Given the description of an element on the screen output the (x, y) to click on. 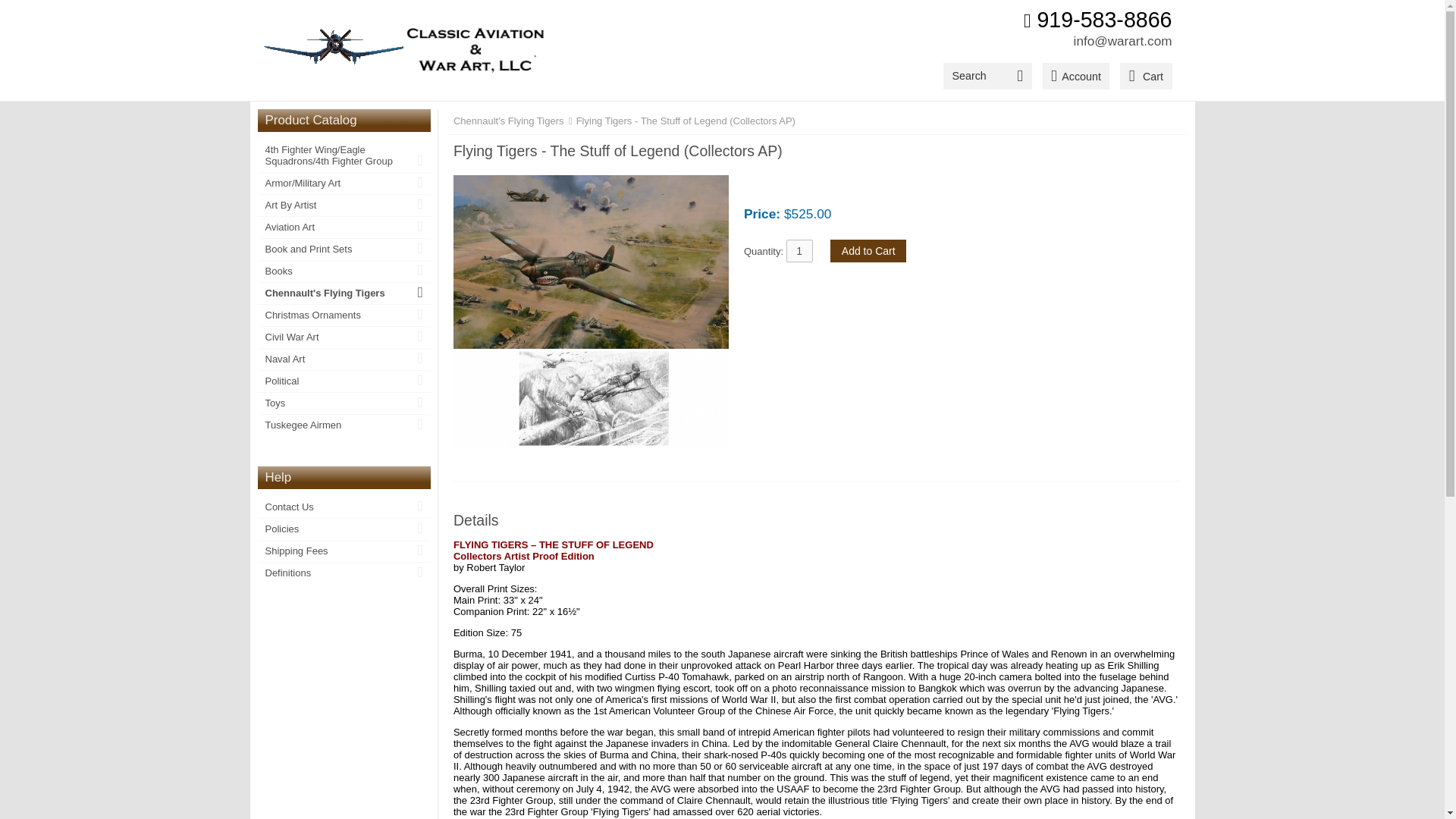
Add to Cart (867, 250)
Click to go to our homepage (402, 50)
Art By Artist (343, 205)
Political (343, 381)
Shipping Fees (343, 550)
1 (799, 250)
Chennault's Flying Tigers (343, 292)
Toys (343, 403)
Civil War Art (343, 336)
Book and Print Sets (343, 249)
